Given the description of an element on the screen output the (x, y) to click on. 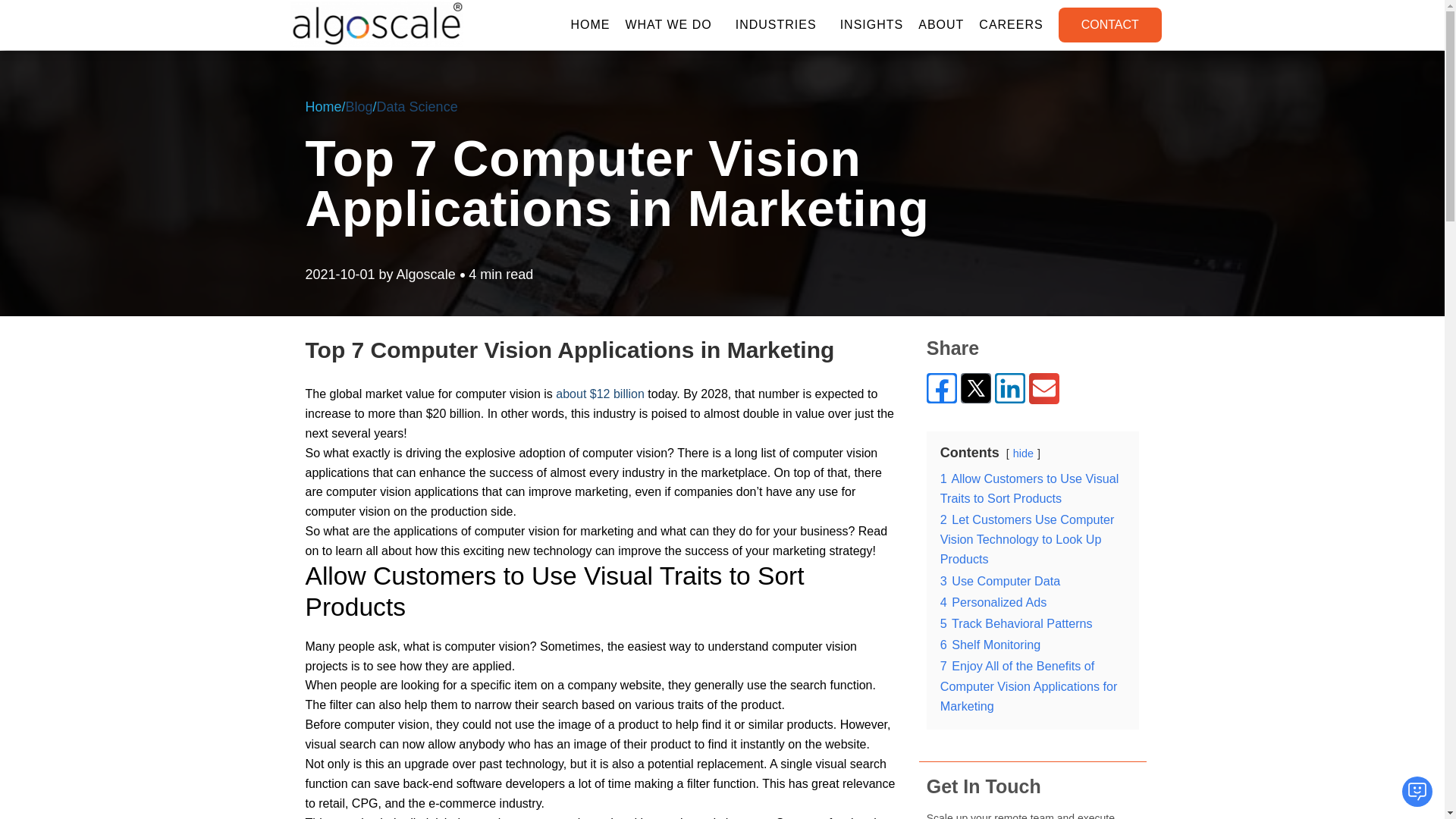
WHAT WE DO (671, 24)
HOME (589, 24)
